Given the description of an element on the screen output the (x, y) to click on. 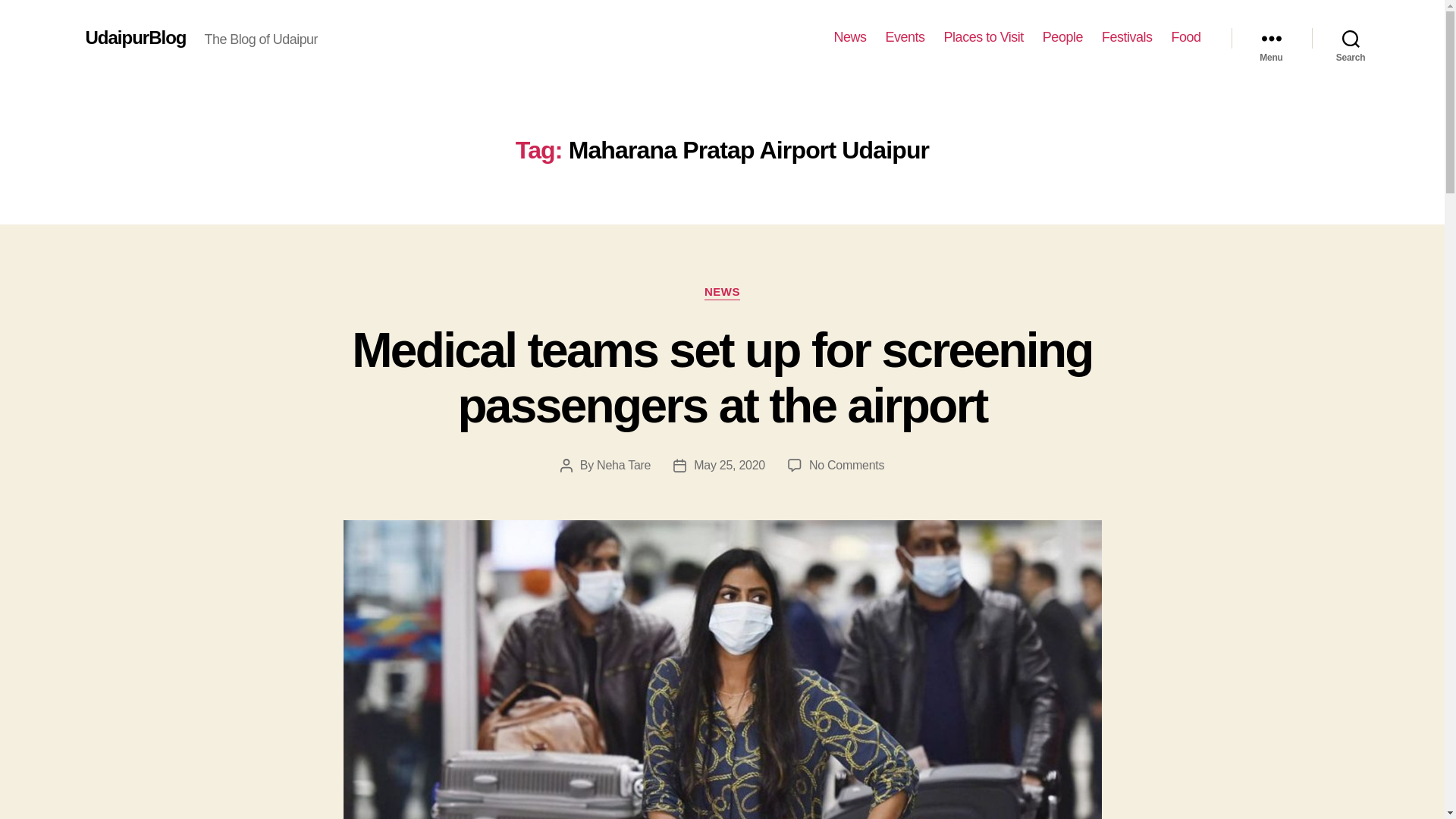
Medical teams set up for screening passengers at the airport (722, 377)
NEWS (721, 292)
Events (904, 37)
Menu (1271, 37)
Food (1184, 37)
Festivals (1127, 37)
Places to Visit (983, 37)
Search (1350, 37)
People (1062, 37)
Neha Tare (623, 464)
May 25, 2020 (729, 464)
News (850, 37)
UdaipurBlog (135, 37)
